Given the description of an element on the screen output the (x, y) to click on. 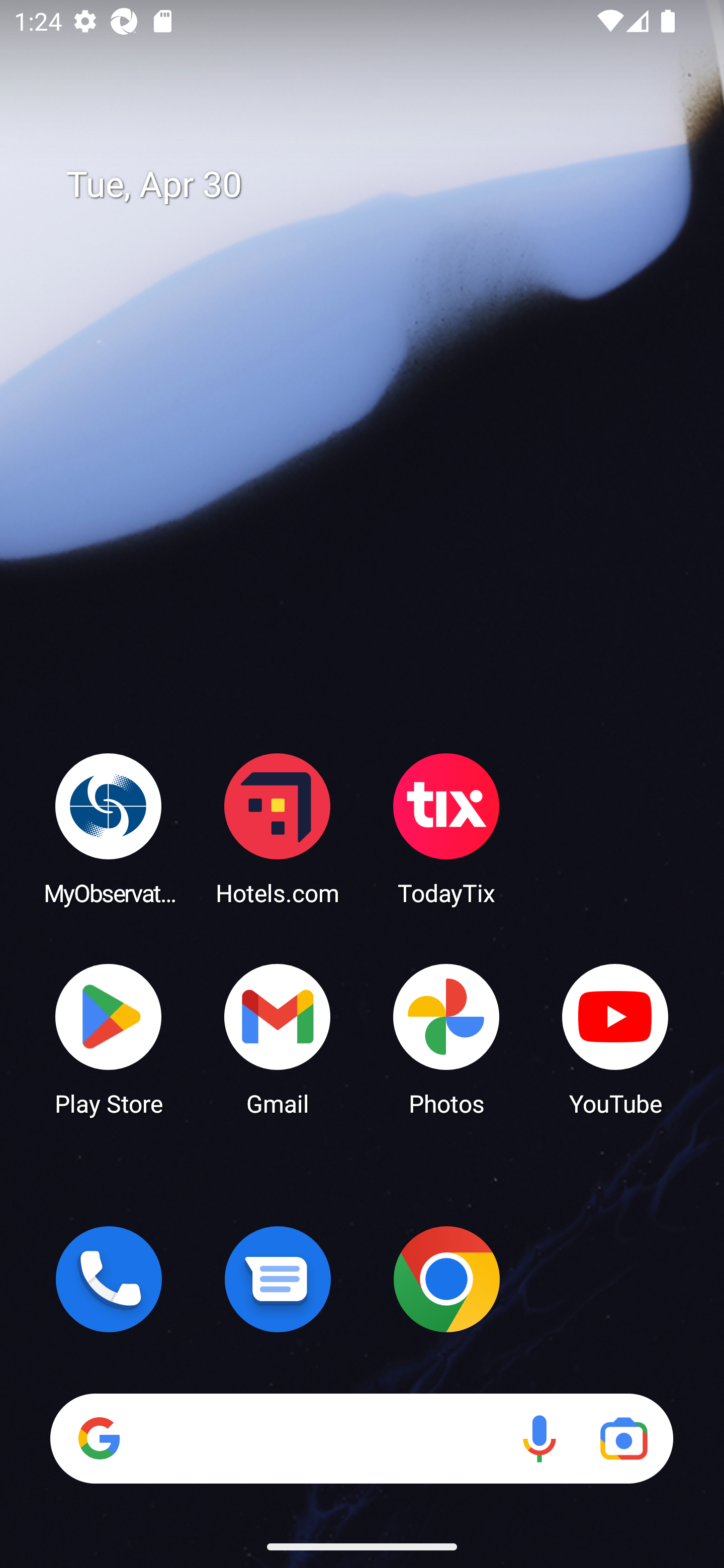
Tue, Apr 30 (375, 184)
MyObservatory (108, 828)
Hotels.com (277, 828)
TodayTix (445, 828)
Play Store (108, 1038)
Gmail (277, 1038)
Photos (445, 1038)
YouTube (615, 1038)
Phone (108, 1279)
Messages (277, 1279)
Chrome (446, 1279)
Voice search (539, 1438)
Google Lens (623, 1438)
